Given the description of an element on the screen output the (x, y) to click on. 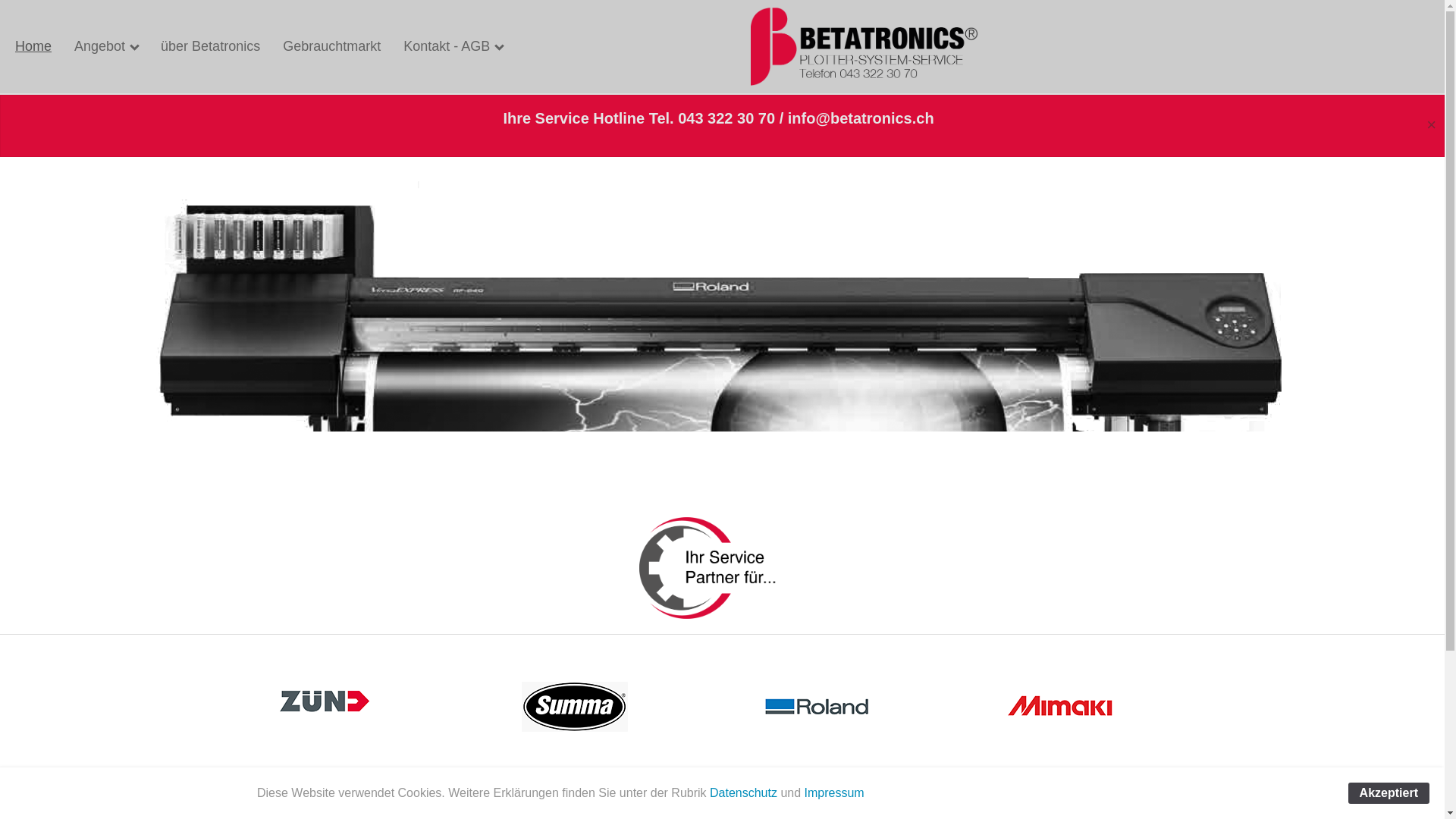
Akzeptiert Element type: text (1388, 792)
Kontakt - AGB Element type: text (452, 46)
Home Element type: text (33, 46)
Gebrauchtmarkt Element type: text (331, 46)
Datenschutz Element type: text (743, 792)
Angebot Element type: text (106, 46)
Impressum Element type: text (834, 792)
